Given the description of an element on the screen output the (x, y) to click on. 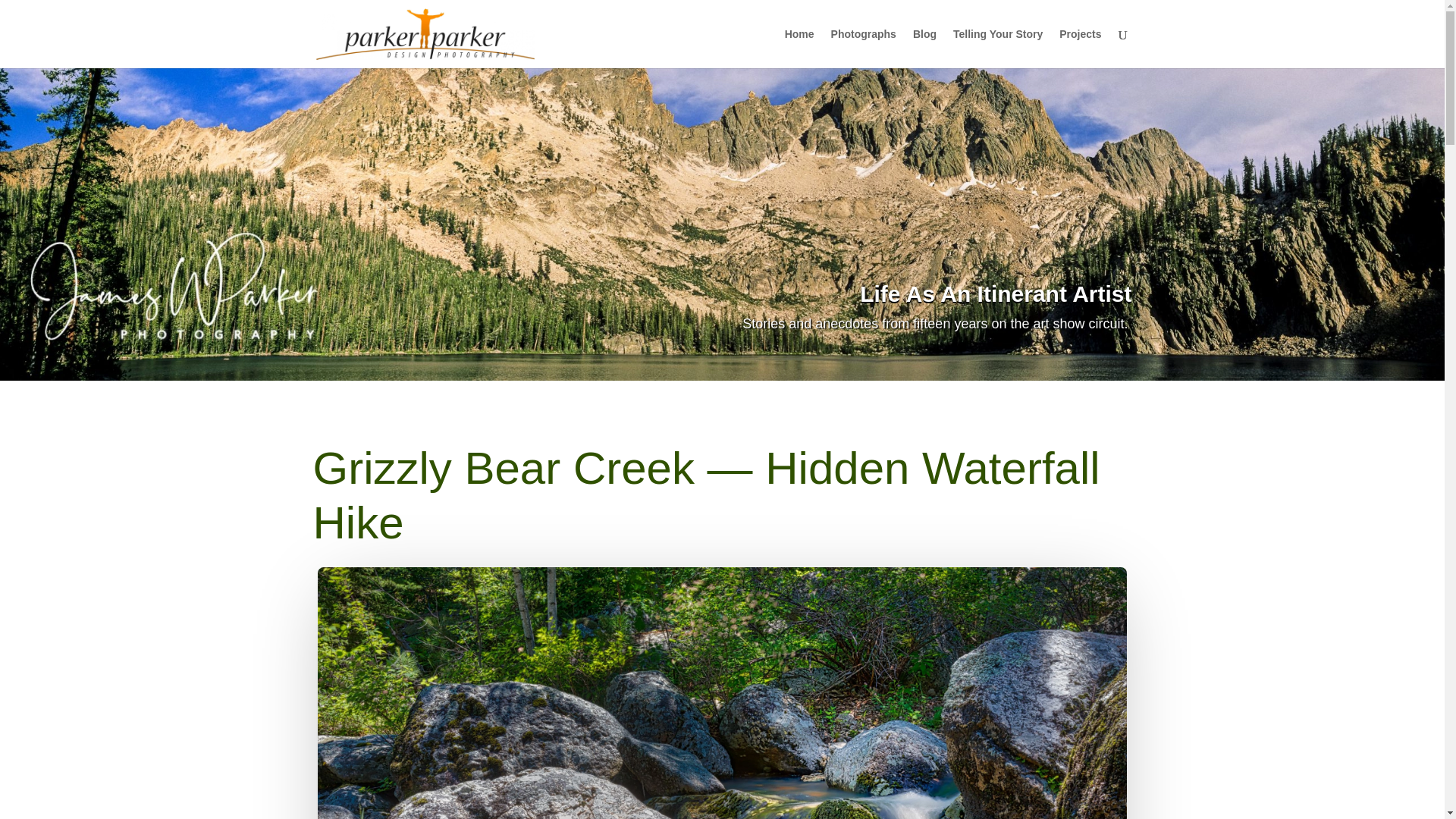
Telling Your Story (997, 47)
Photographs (863, 47)
Projects (1079, 47)
